Given the description of an element on the screen output the (x, y) to click on. 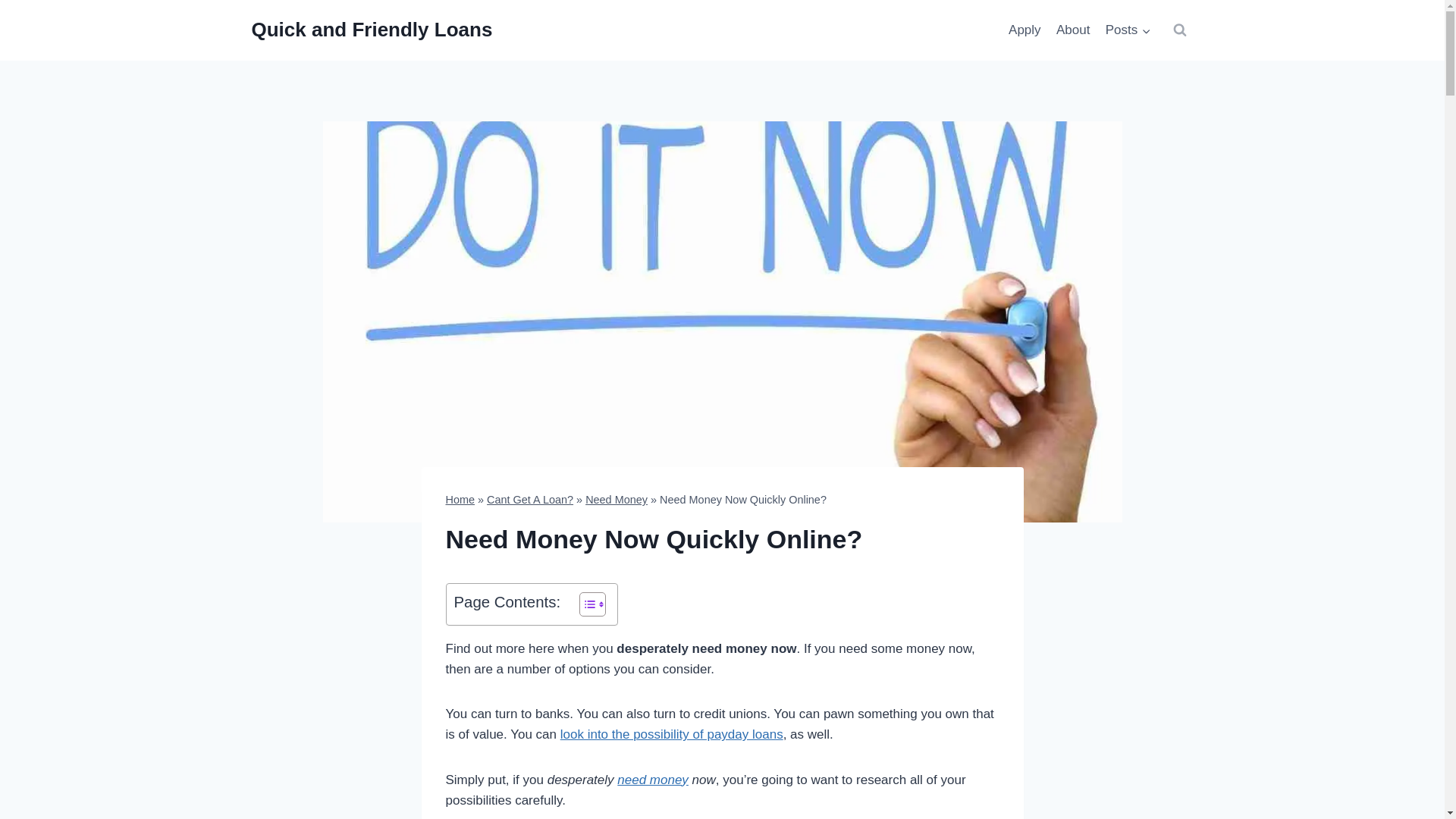
About (1072, 30)
Quick and Friendly Loans (372, 29)
Posts (1127, 30)
Apply (1024, 30)
